Given the description of an element on the screen output the (x, y) to click on. 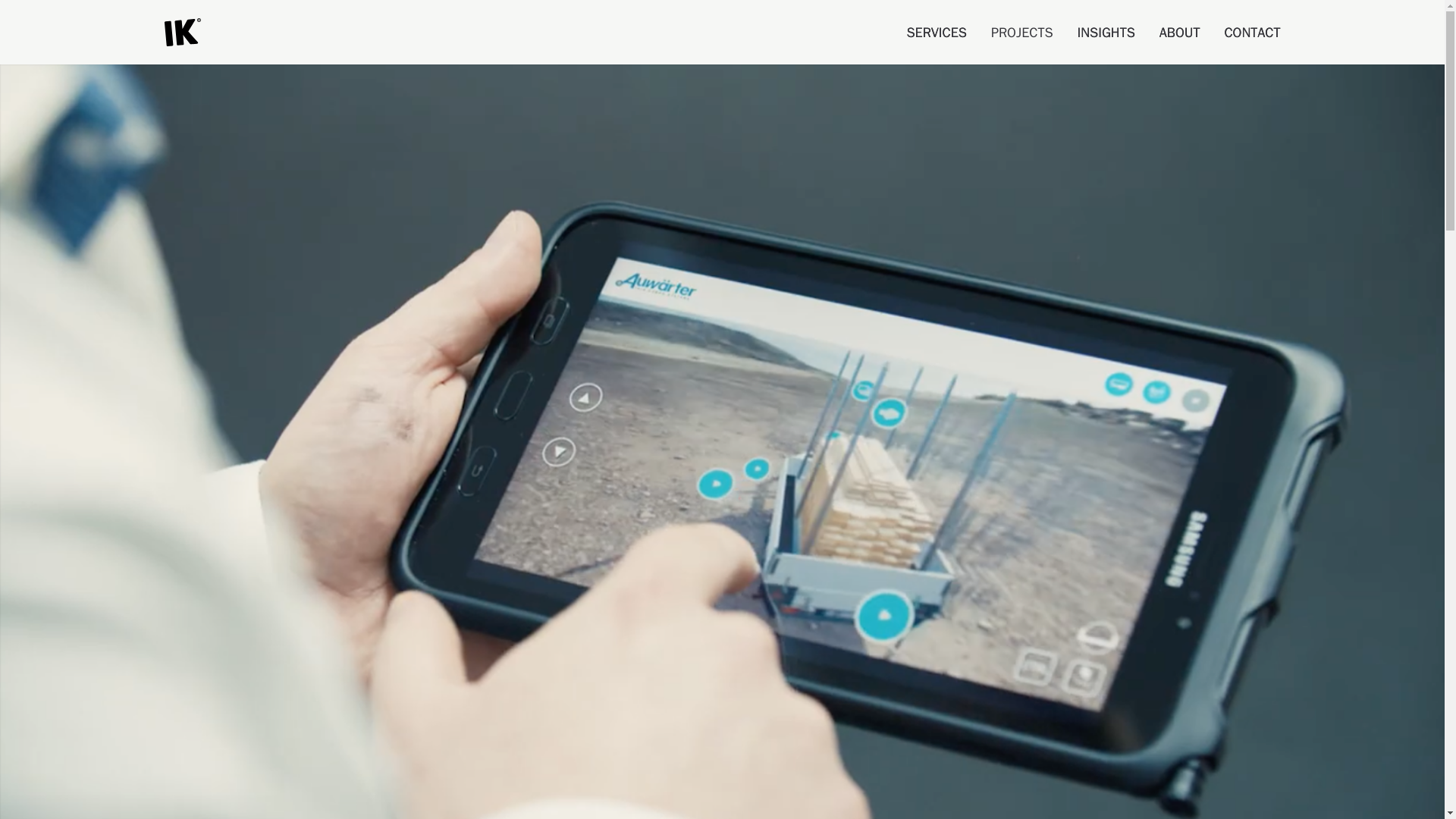
CONTACT (1251, 32)
PROJECTS (1021, 32)
INSIGHTS (1106, 32)
SERVICES (935, 32)
ABOUT (1178, 32)
